Given the description of an element on the screen output the (x, y) to click on. 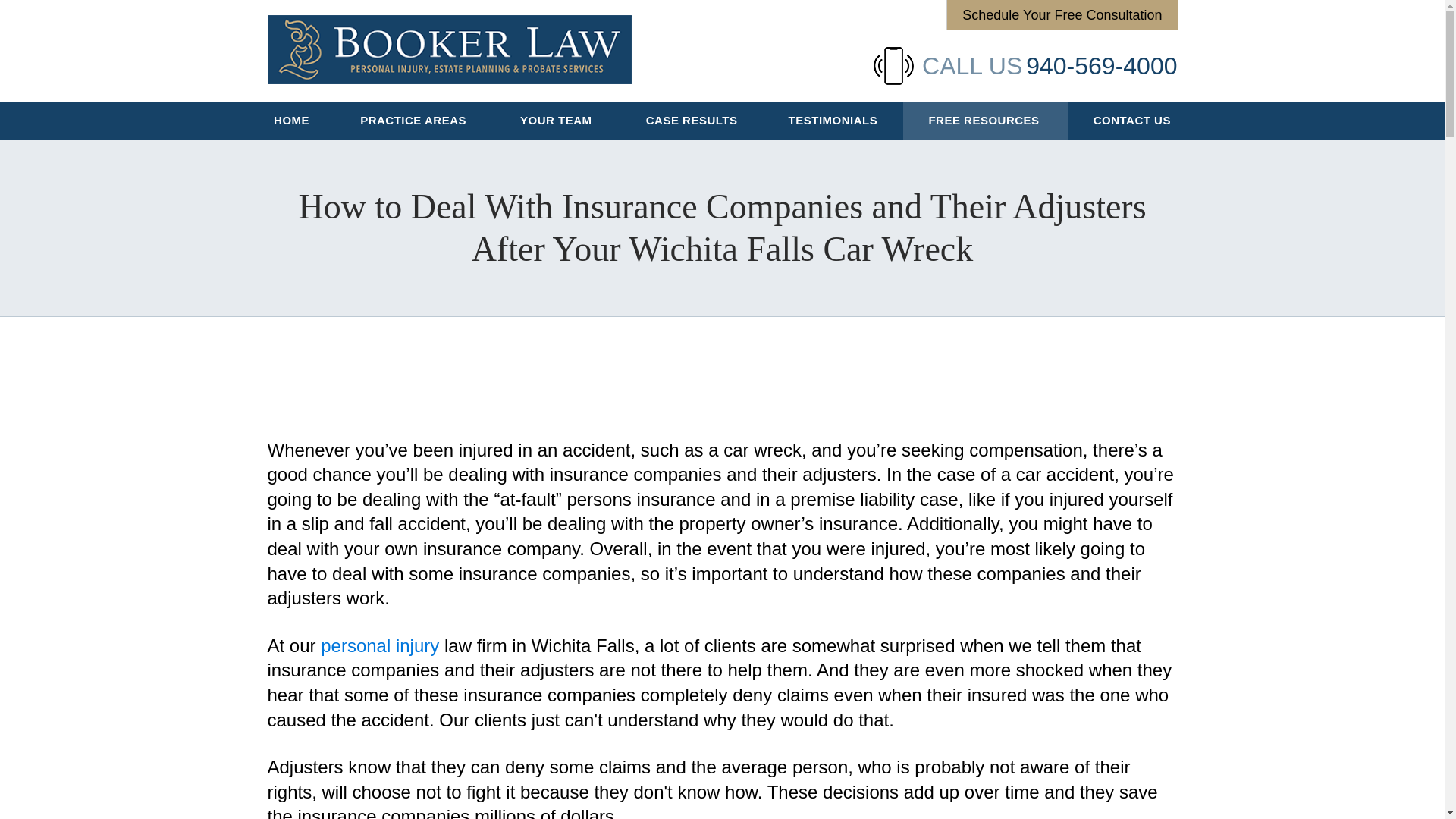
TESTIMONIALS (832, 120)
HOME (291, 120)
YOUR TEAM (558, 120)
CASE RESULTS (691, 120)
PRACTICE AREAS (414, 120)
Schedule Your Free Consultation (1061, 14)
